Given the description of an element on the screen output the (x, y) to click on. 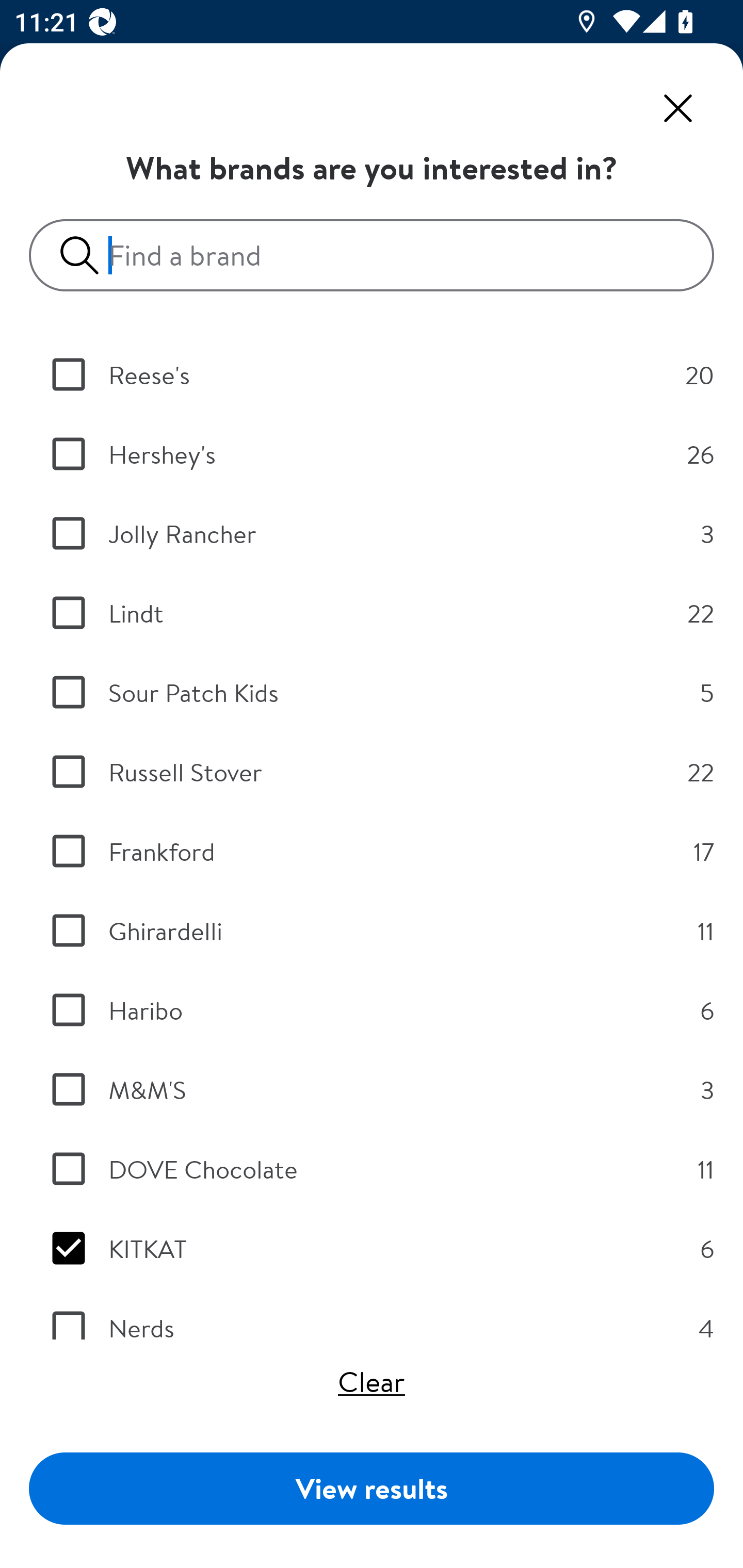
Close (677, 108)
Find a brand (378, 255)
Brand, KITKAT, 6 items, Checked Checkbox KITKAT 6 (371, 1247)
Clear clear all filters (371, 1381)
View results (371, 1487)
